Given the description of an element on the screen output the (x, y) to click on. 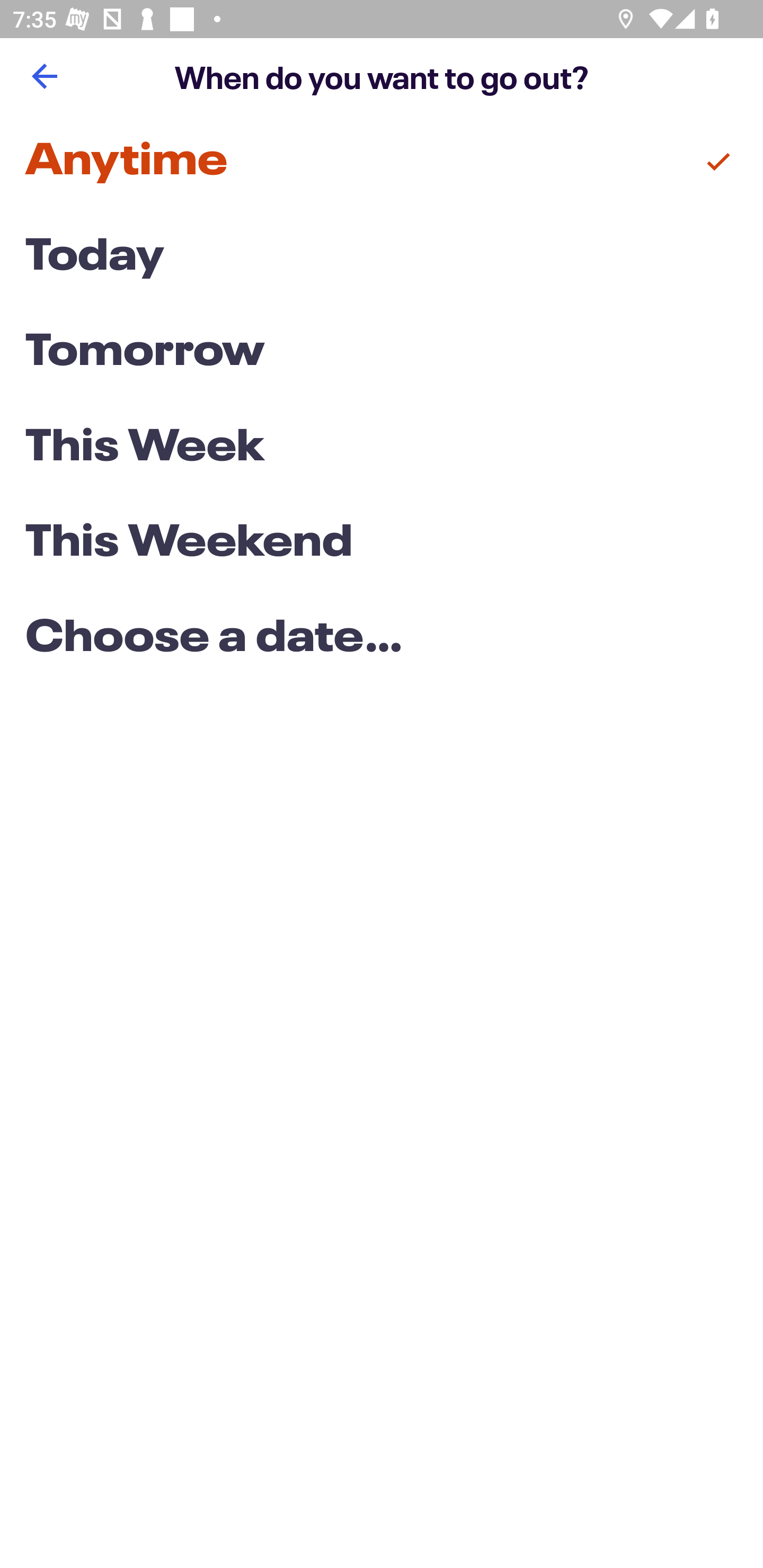
Back button (44, 75)
Anytime (381, 161)
Today (381, 257)
Tomorrow (381, 352)
This Week (381, 447)
This Weekend (381, 542)
Choose a date… (381, 638)
